Given the description of an element on the screen output the (x, y) to click on. 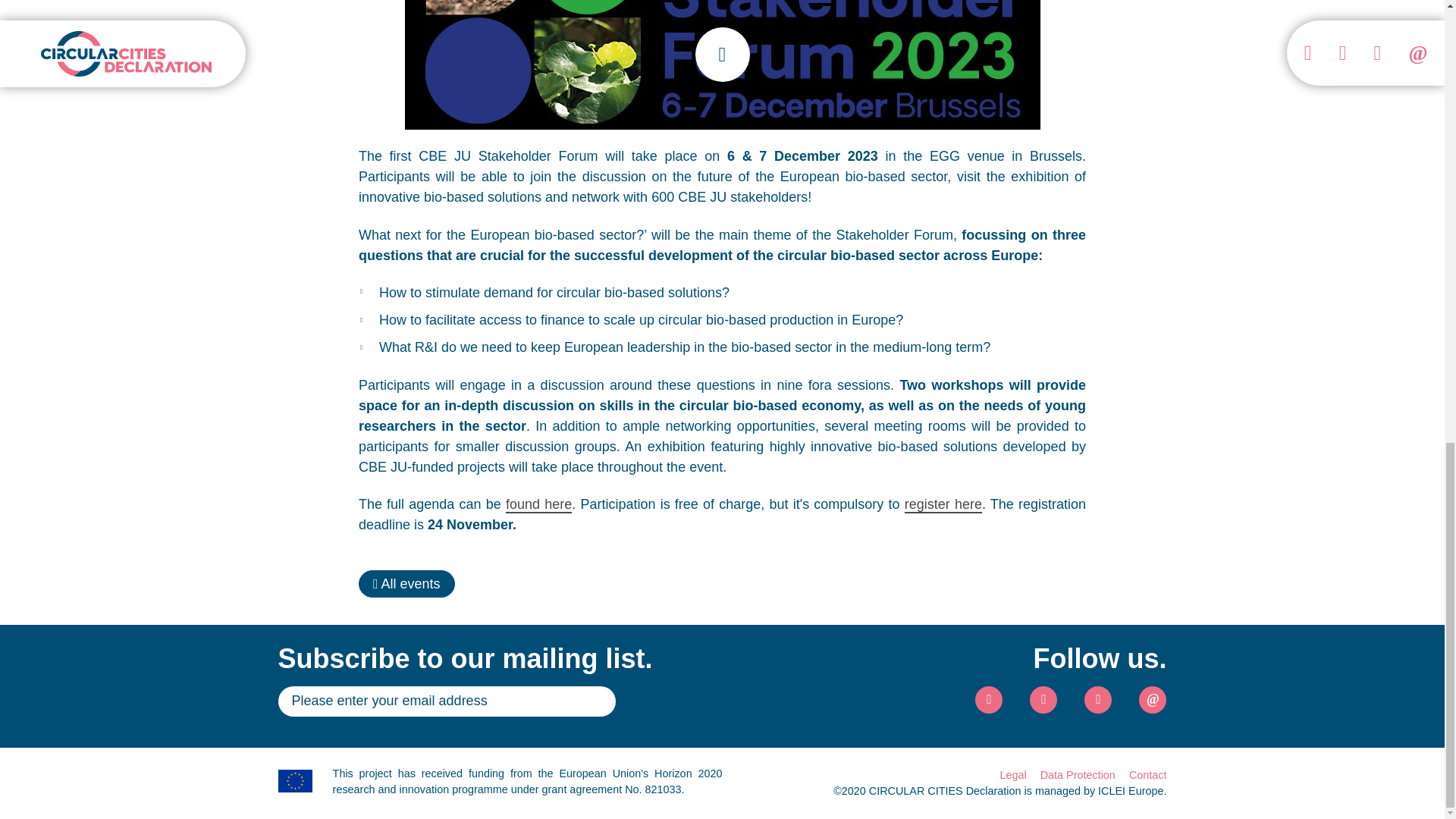
Legal (1012, 775)
found here (538, 504)
Data Protection (1078, 775)
Contact (1148, 775)
Newsletter (1098, 699)
LinkedIn (1043, 699)
Contact (1152, 699)
register here (942, 504)
All events (406, 583)
Twitter (989, 699)
